Given the description of an element on the screen output the (x, y) to click on. 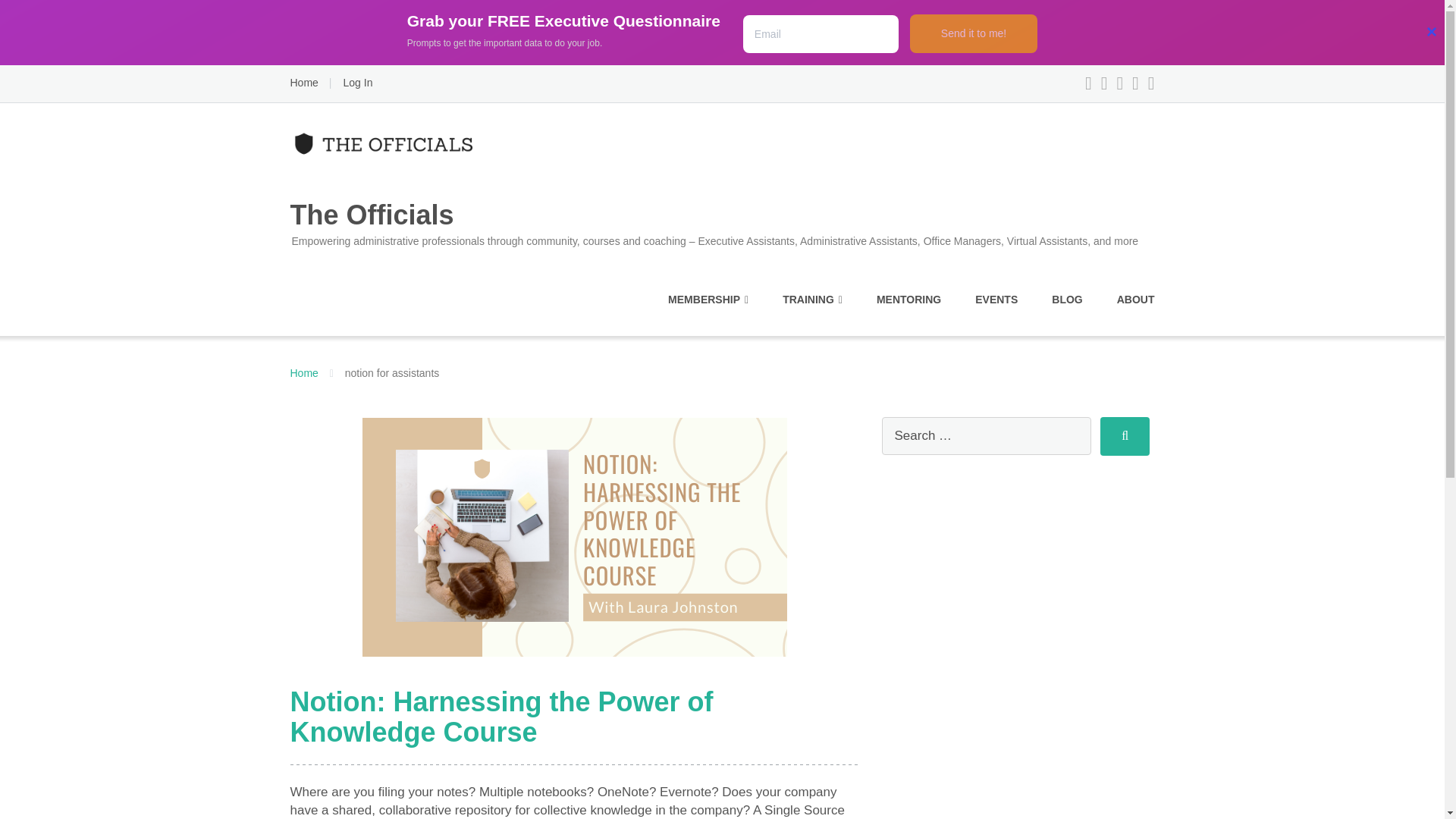
The Officials (713, 182)
The Officials (303, 372)
MENTORING (908, 300)
EVENTS (996, 300)
ABOUT (1135, 300)
Notion: Harnessing the Power of Knowledge Course (501, 716)
Home (303, 82)
TRAINING (813, 300)
Search for: (985, 435)
BLOG (1066, 300)
